Given the description of an element on the screen output the (x, y) to click on. 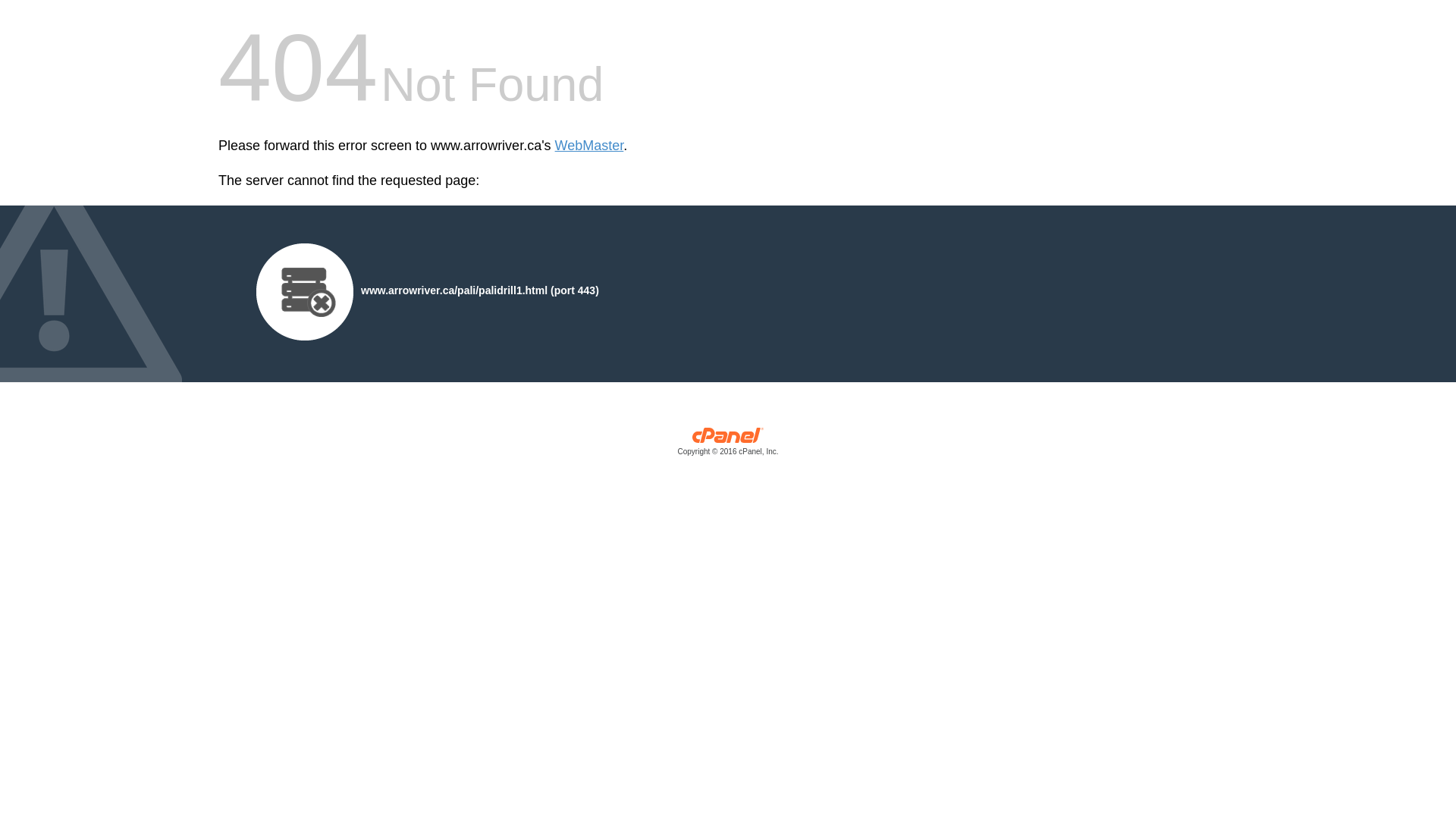
WebMaster Element type: text (589, 145)
